Given the description of an element on the screen output the (x, y) to click on. 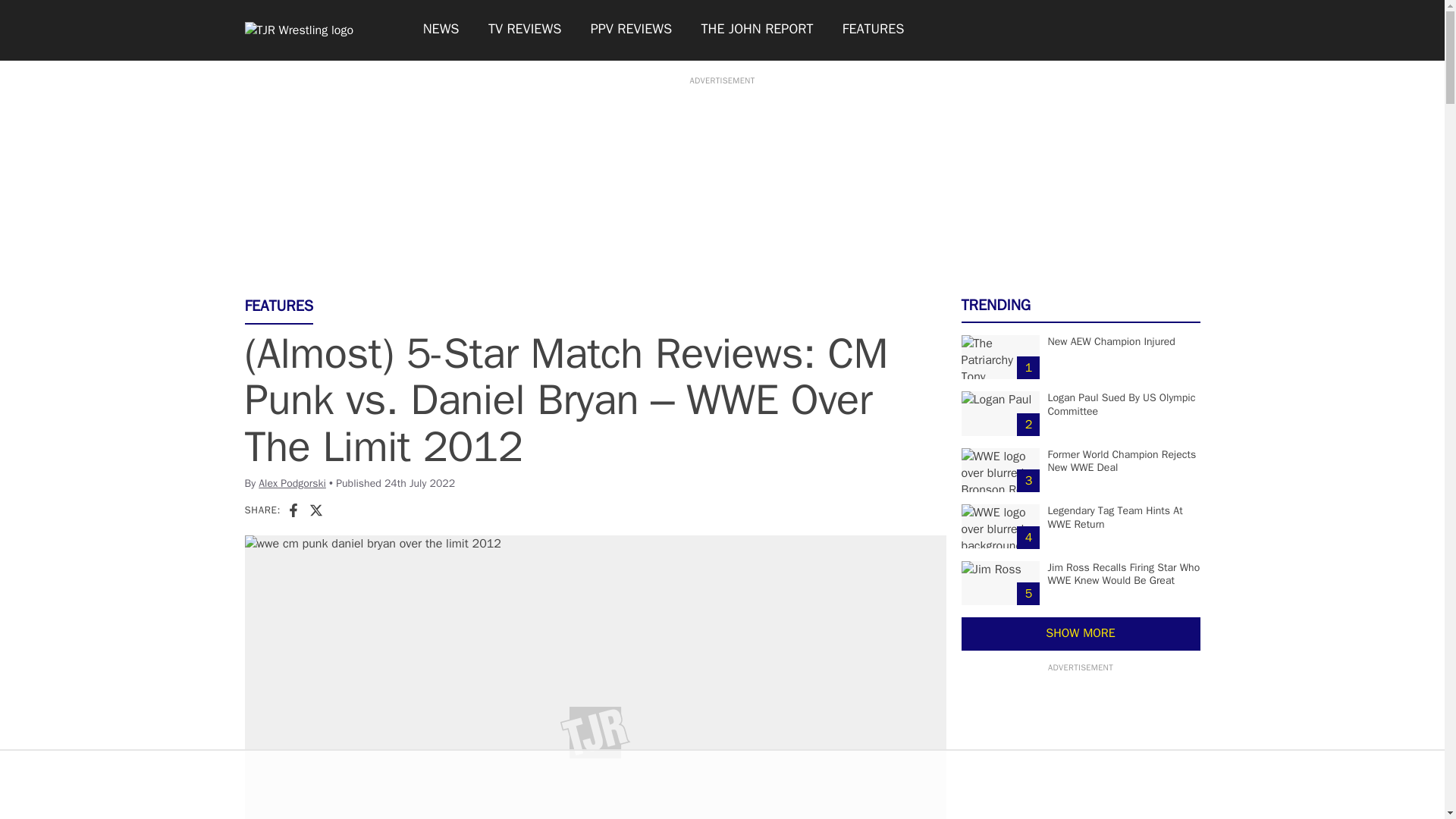
FEATURES (873, 30)
Facebook (292, 509)
NEWS (440, 30)
PPV REVIEWS (631, 30)
X (315, 509)
Logan Paul Sued By US Olympic Committee (1120, 404)
Alex Podgorski (292, 482)
Legendary Tag Team Hints At WWE Return (1114, 517)
THE JOHN REPORT (756, 30)
TV REVIEWS (525, 30)
Facebook (292, 509)
X (315, 509)
